Given the description of an element on the screen output the (x, y) to click on. 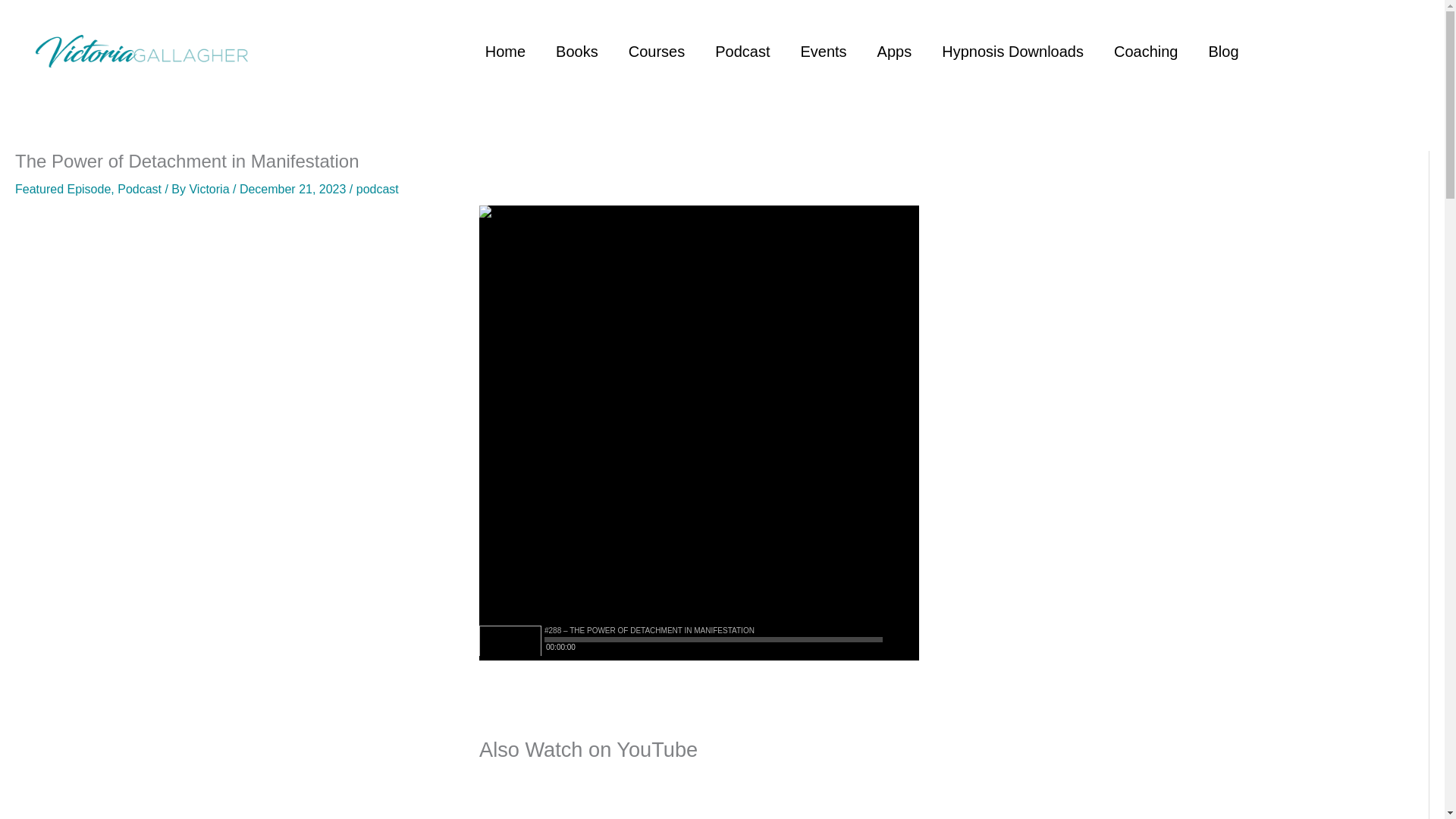
Hypnosis Downloads (1012, 50)
Blog (1222, 50)
Books (576, 50)
Coaching (1146, 50)
Home (505, 50)
Apps (894, 50)
View all posts by Victoria (210, 188)
Podcast (742, 50)
Events (822, 50)
